Given the description of an element on the screen output the (x, y) to click on. 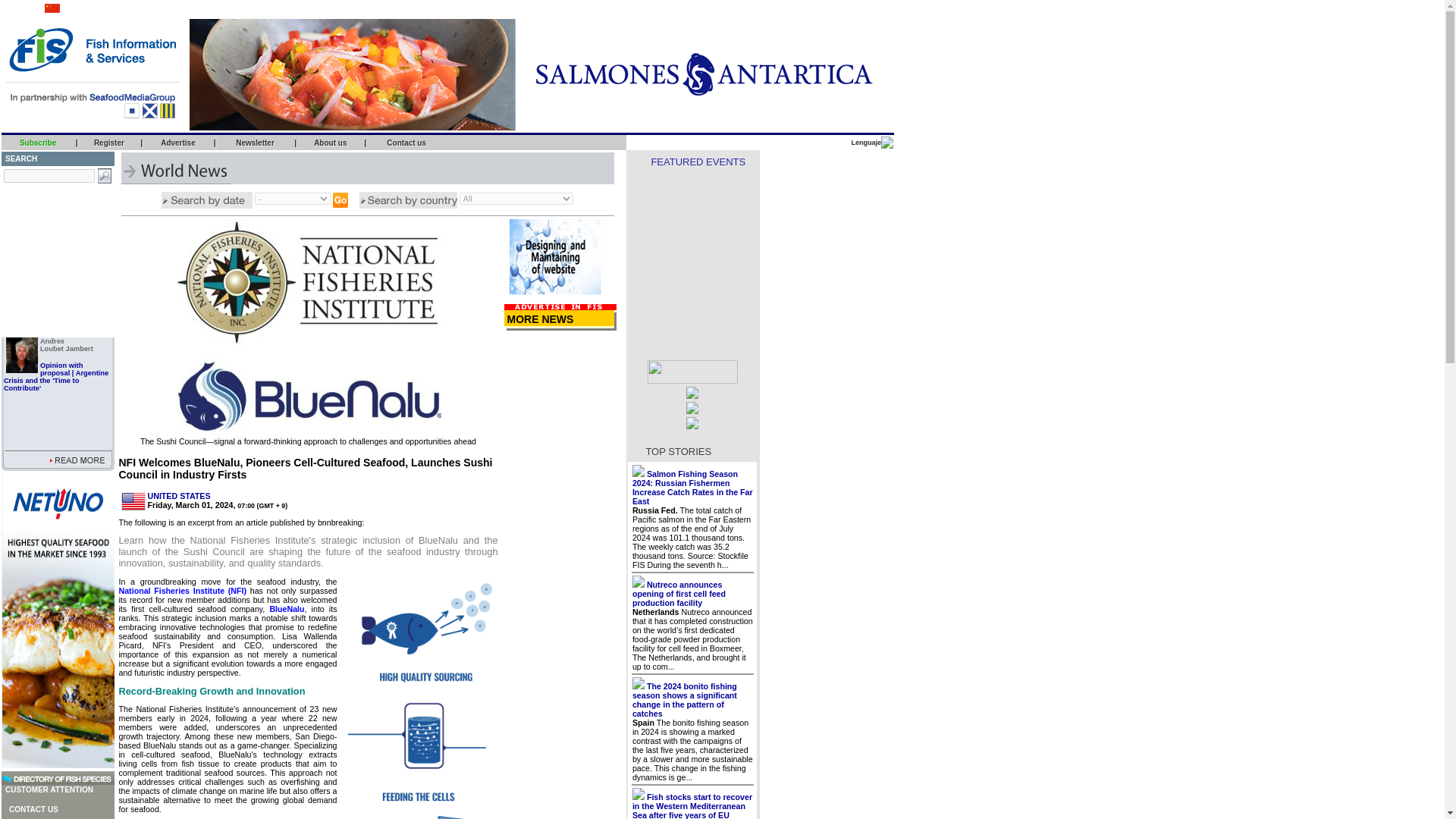
People With Opinion (41, 277)
Advertise (177, 142)
PEOPLE WITH OPINION (41, 277)
Contact us (406, 142)
About us (330, 142)
TRADING MARKET (33, 248)
UNITED STATES (178, 495)
Newsletter (255, 142)
WORLD NEWS (27, 205)
Register (108, 142)
CONTACT US (31, 809)
